Given the description of an element on the screen output the (x, y) to click on. 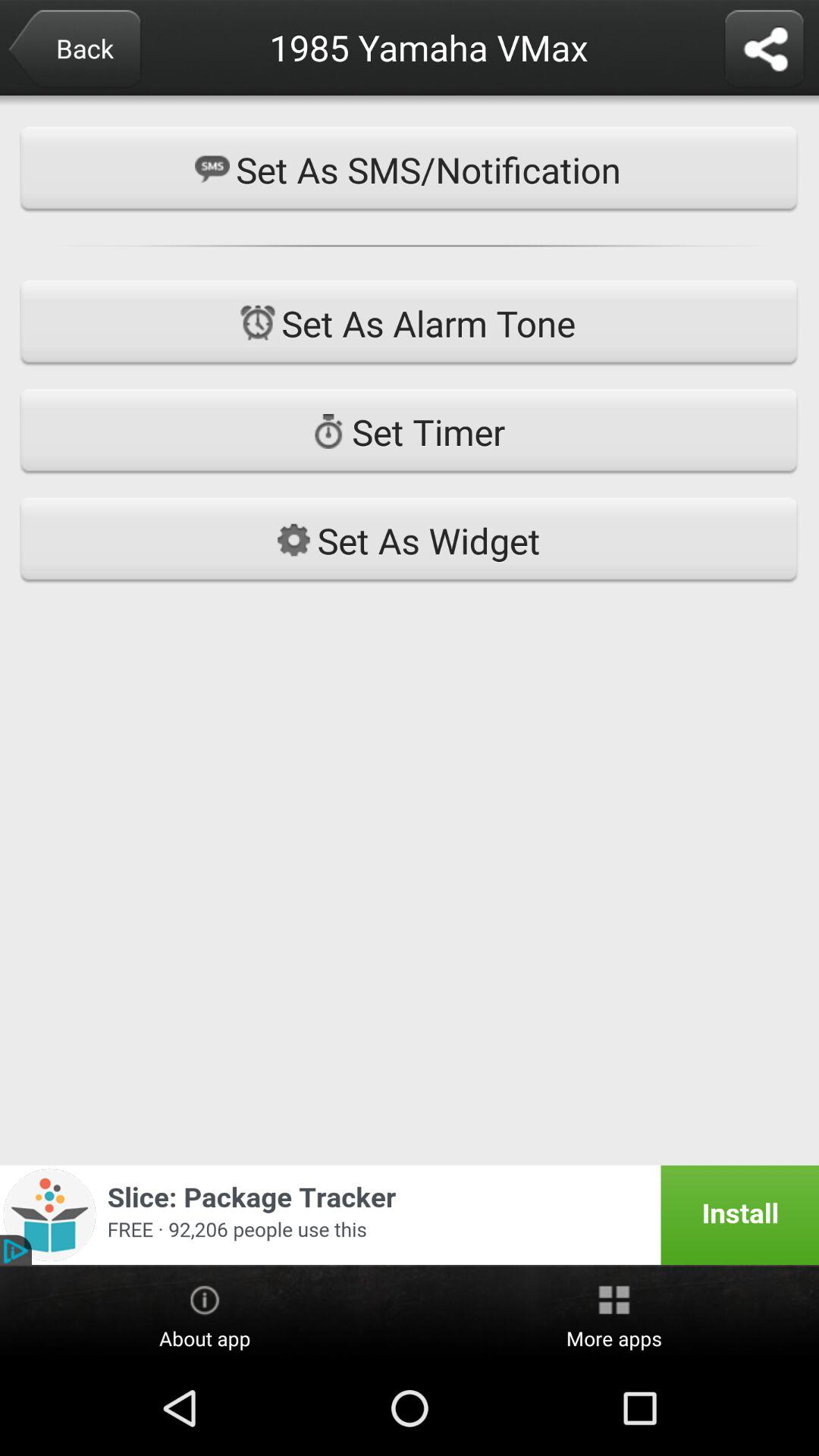
press button to the left of more apps (204, 1314)
